Given the description of an element on the screen output the (x, y) to click on. 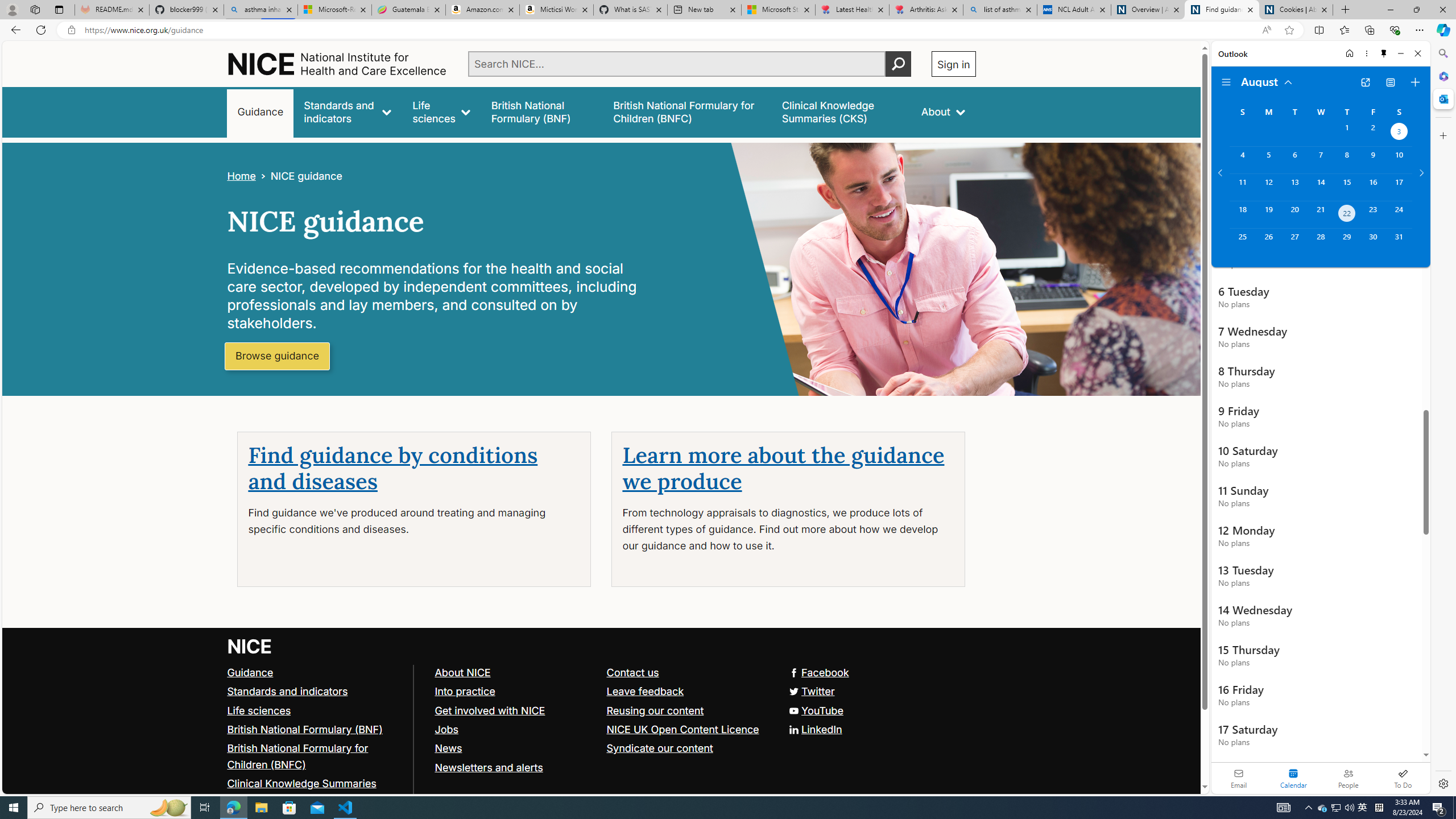
View Switcher. Current view is Agenda view (1390, 82)
Sunday, August 4, 2024.  (1242, 159)
Saturday, August 31, 2024.  (1399, 241)
Reusing our content (686, 710)
Into practice (464, 690)
